Given the description of an element on the screen output the (x, y) to click on. 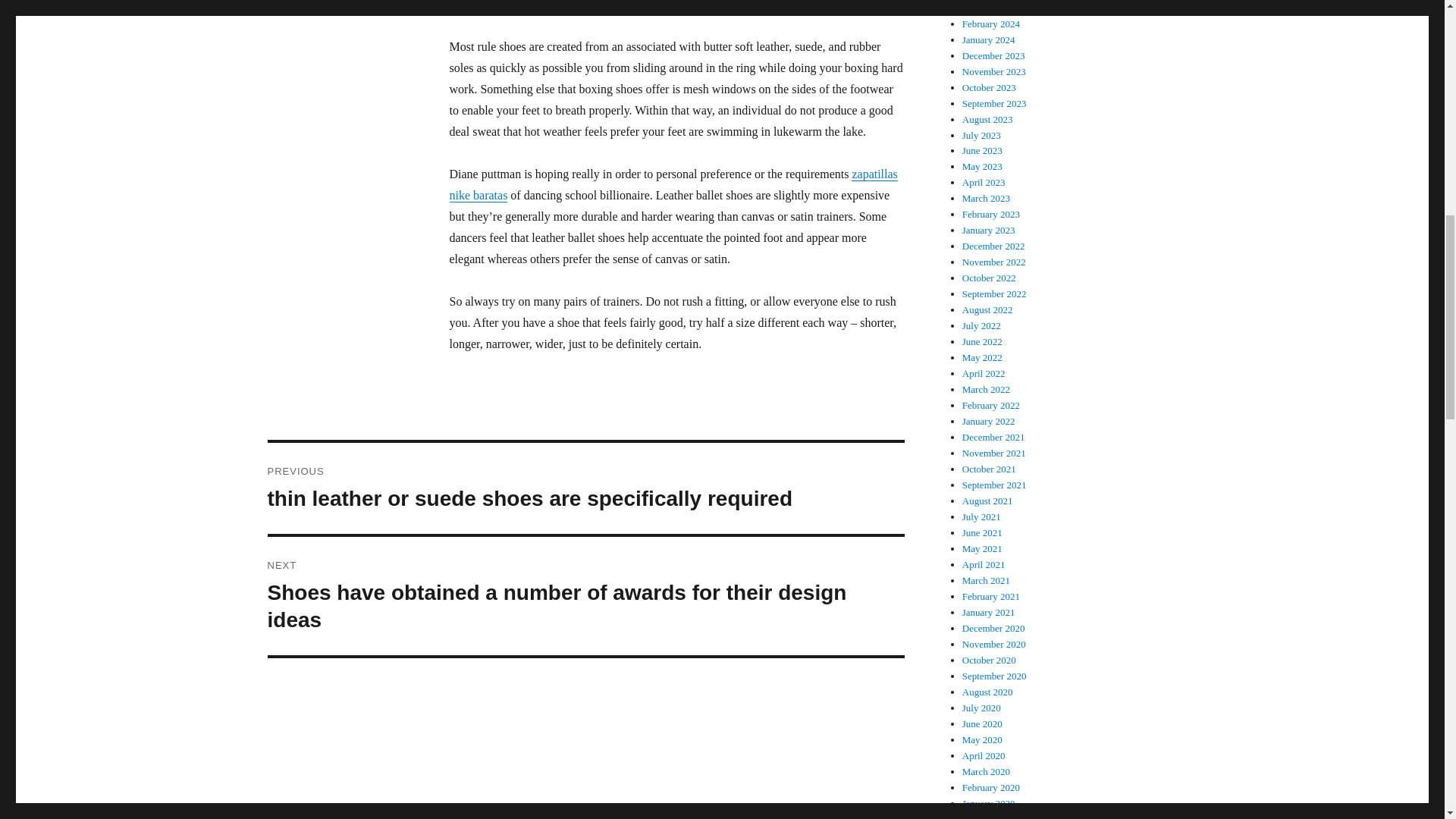
March 2024 (986, 7)
November 2022 (994, 261)
March 2023 (986, 197)
August 2023 (987, 119)
November 2023 (994, 71)
February 2024 (991, 23)
October 2022 (989, 277)
September 2023 (994, 102)
January 2023 (988, 229)
April 2023 (984, 182)
